Given the description of an element on the screen output the (x, y) to click on. 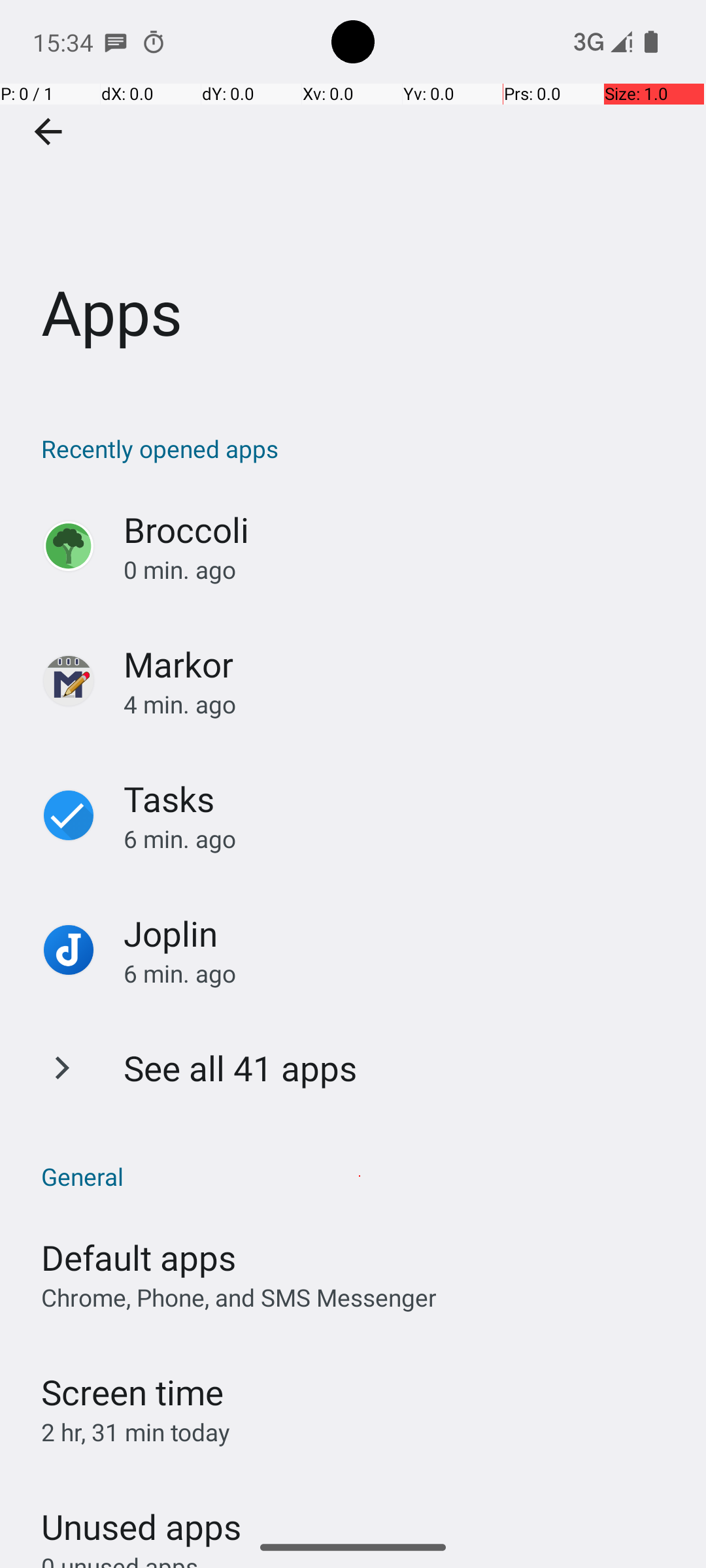
6 min. ago Element type: android.widget.TextView (400, 838)
2 hr, 31 min today Element type: android.widget.TextView (135, 1431)
